Given the description of an element on the screen output the (x, y) to click on. 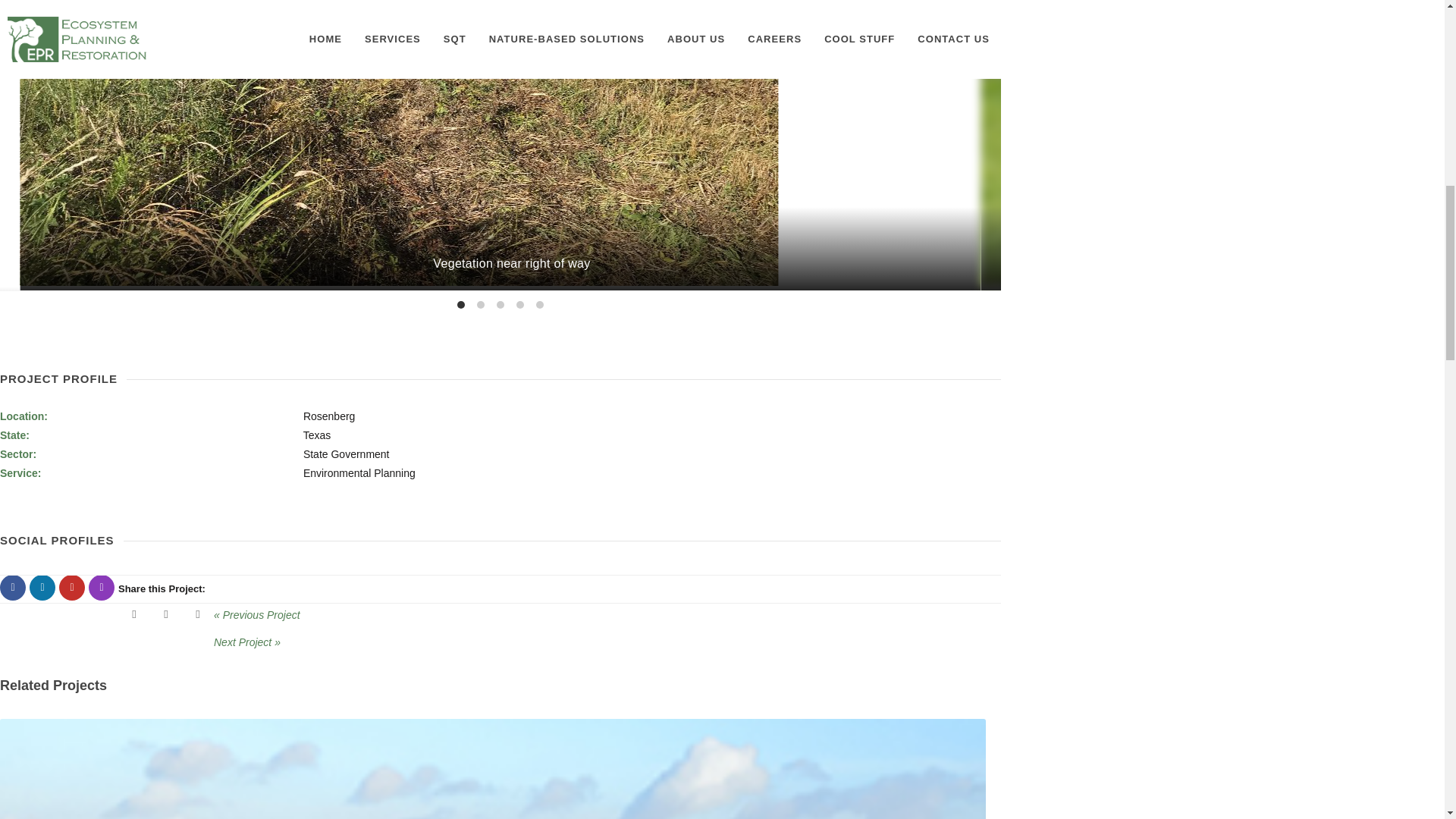
Youtube (71, 587)
LinkedIn (42, 587)
Instagram (101, 587)
Facebook (13, 587)
